Given the description of an element on the screen output the (x, y) to click on. 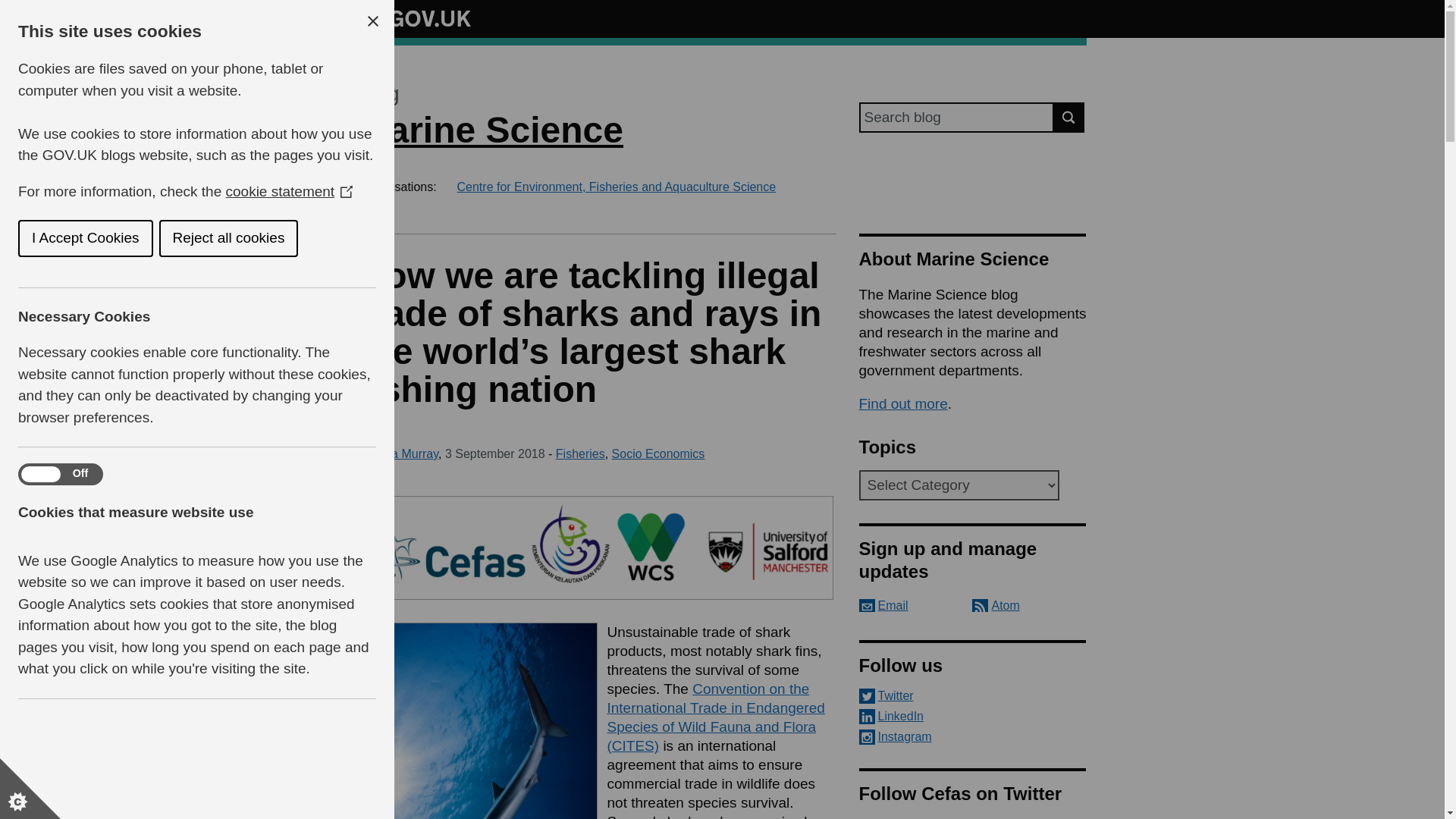
Skip to main content (11, 7)
Search (1069, 117)
Marine Science (490, 129)
Go to the GOV.UK homepage (414, 18)
Blog (378, 93)
Posts by Joanna Murray (398, 453)
Fisheries (580, 453)
GOV.UK (414, 18)
Centre for Environment, Fisheries and Aquaculture Science (616, 186)
GOV.UK (414, 15)
